Given the description of an element on the screen output the (x, y) to click on. 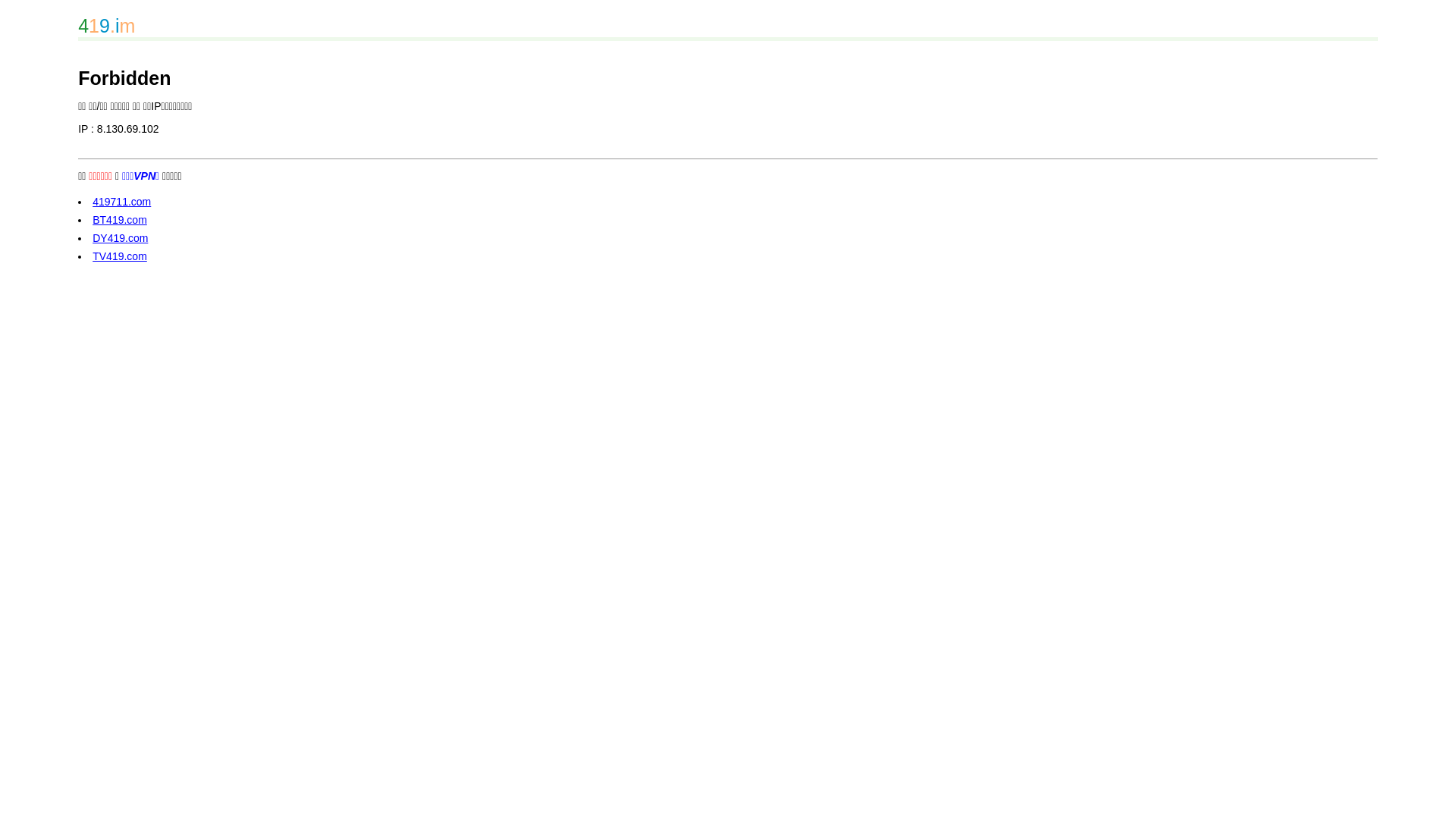
419.im Element type: text (727, 27)
419711.com Element type: text (121, 201)
DY419.com Element type: text (119, 238)
TV419.com Element type: text (119, 256)
BT419.com Element type: text (119, 219)
